Given the description of an element on the screen output the (x, y) to click on. 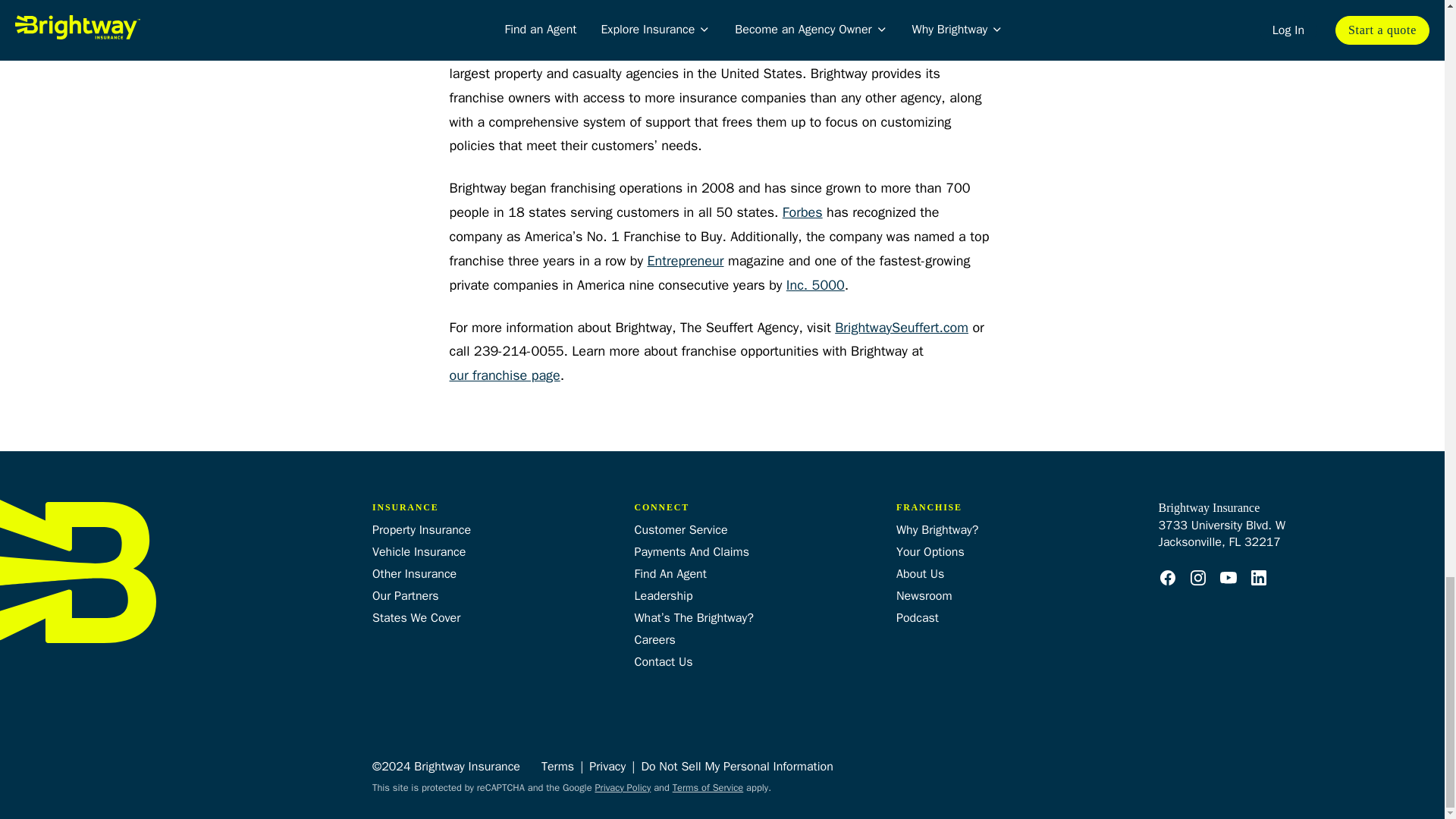
Footer Instagram Icon (1198, 577)
Inc. 5000 (815, 285)
Terms (557, 766)
Do Not Sell My Personal Information (736, 766)
Other Insurance (414, 573)
About Us (919, 573)
Podcast (917, 617)
Footer Youtube Icon (1228, 577)
Why Brightway? (937, 529)
Careers (654, 639)
